Given the description of an element on the screen output the (x, y) to click on. 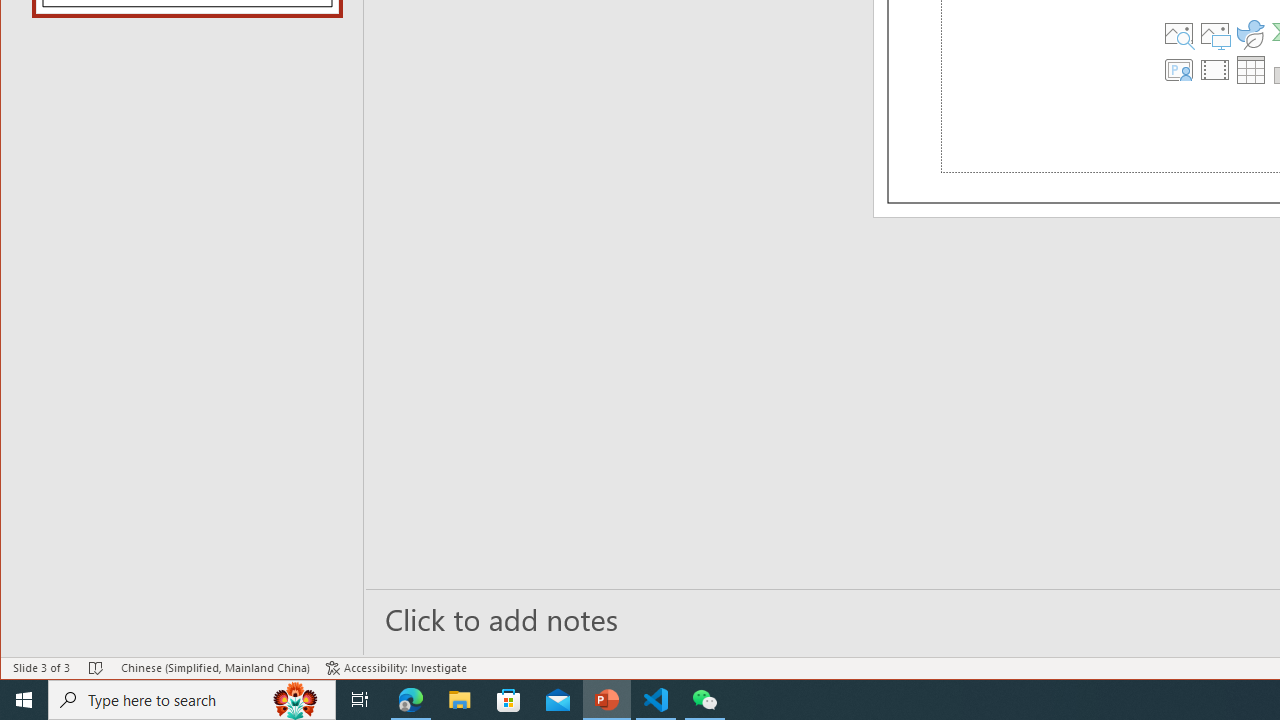
Insert Table (1251, 69)
Stock Images (1179, 33)
Insert an Icon (1251, 33)
WeChat - 1 running window (704, 699)
Insert Cameo (1179, 69)
